Given the description of an element on the screen output the (x, y) to click on. 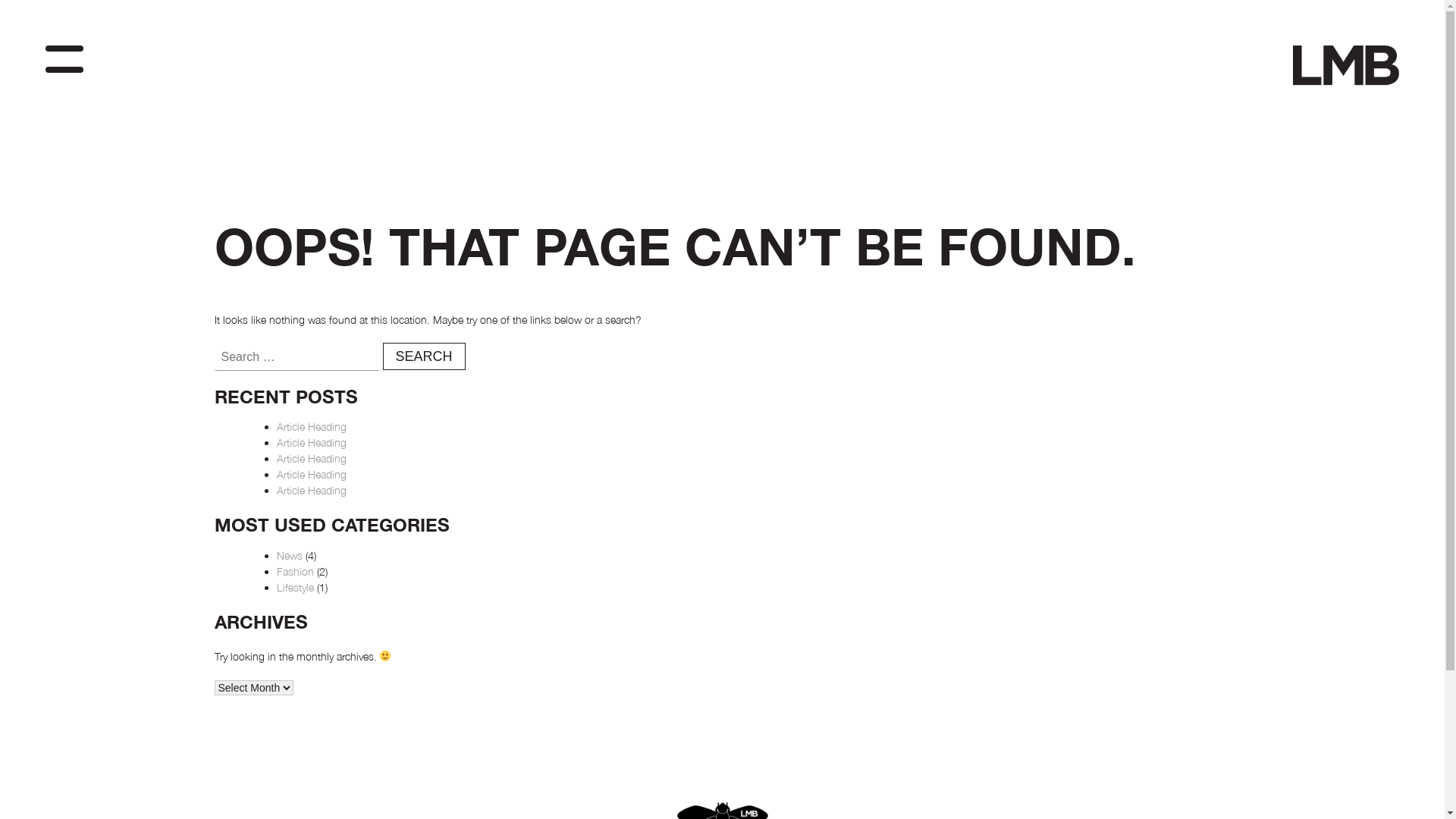
Article Heading Element type: text (310, 473)
Search Element type: text (423, 356)
Article Heading Element type: text (310, 489)
LMB Management Element type: text (1335, 111)
Article Heading Element type: text (310, 457)
Lifestyle Element type: text (294, 586)
News Element type: text (288, 555)
Article Heading Element type: text (310, 426)
Fashion Element type: text (294, 570)
Article Heading Element type: text (310, 442)
